Given the description of an element on the screen output the (x, y) to click on. 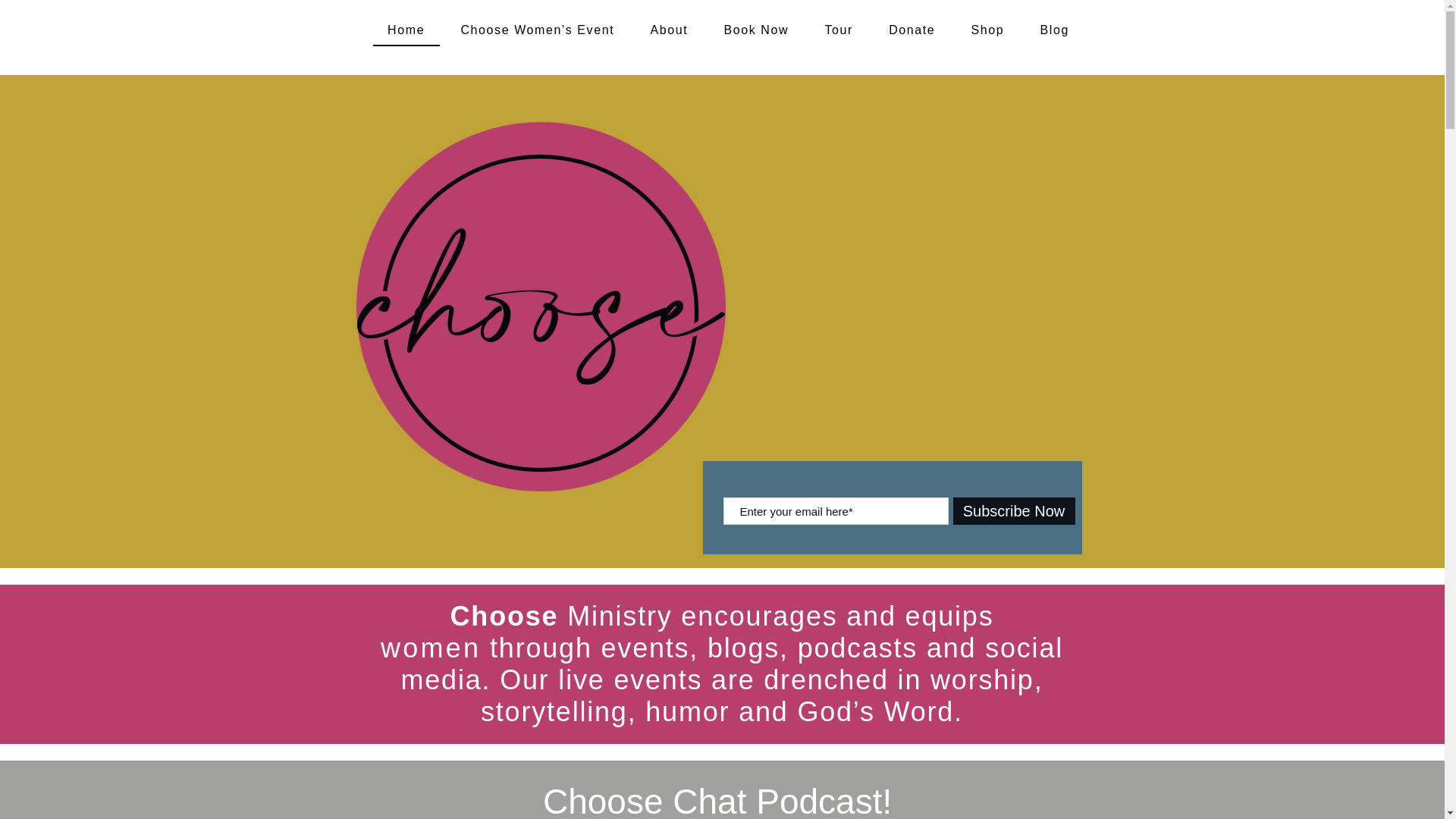
Subscribe Now (1013, 510)
Book Now (756, 30)
Choose Women's Event (536, 30)
Donate (912, 30)
Shop (987, 30)
Tour (838, 30)
Blog (1054, 30)
About (668, 30)
Home (405, 30)
